Given the description of an element on the screen output the (x, y) to click on. 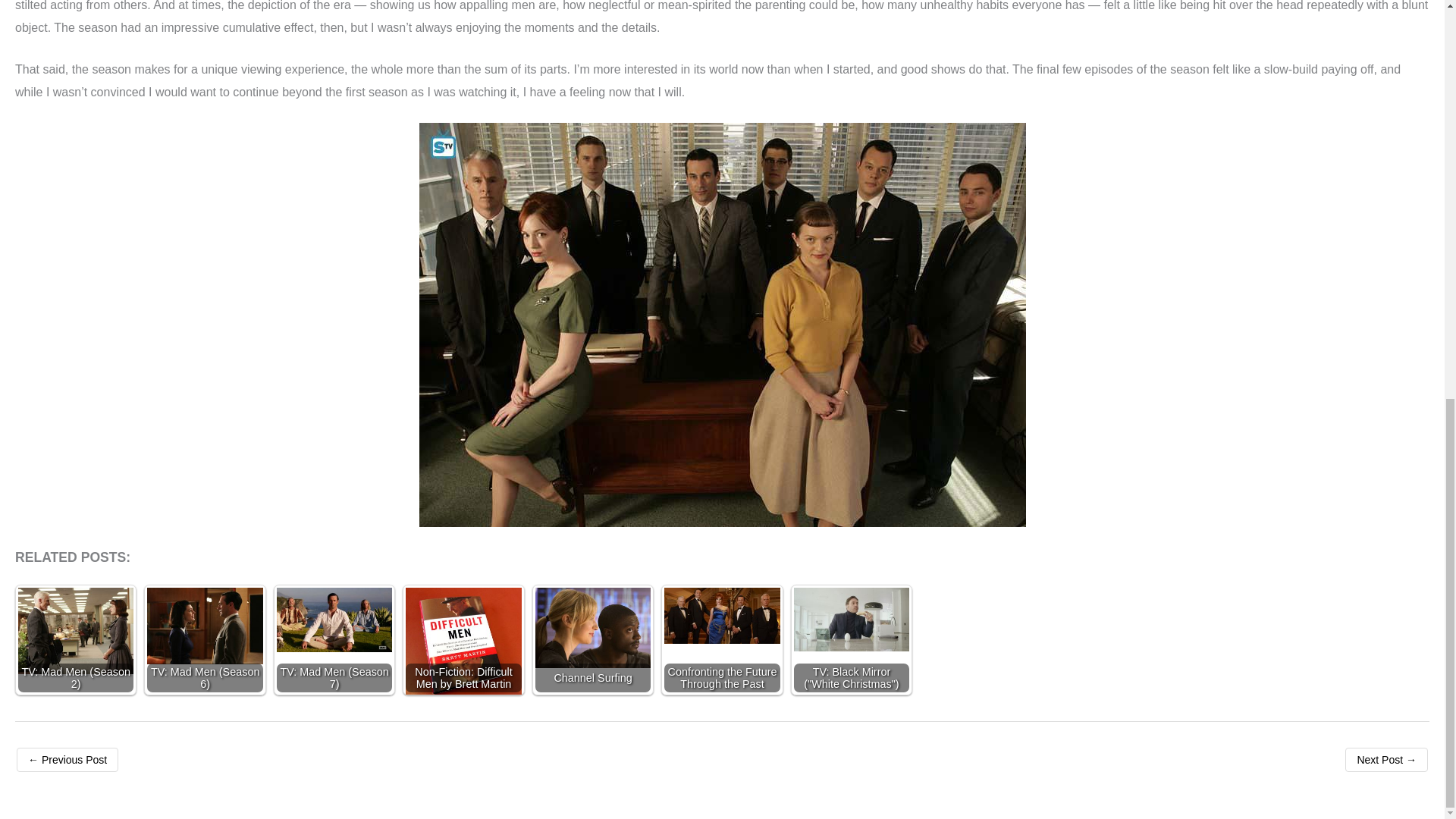
Non-Fiction: Difficult Men by Brett Martin (462, 639)
Channel Surfing (592, 639)
Confronting the Future Through the Past (720, 616)
Non-Fiction: Difficult Men by Brett Martin (463, 645)
Channel Surfing (592, 628)
Theater: Slaughterhouse-Five (1386, 759)
